Given the description of an element on the screen output the (x, y) to click on. 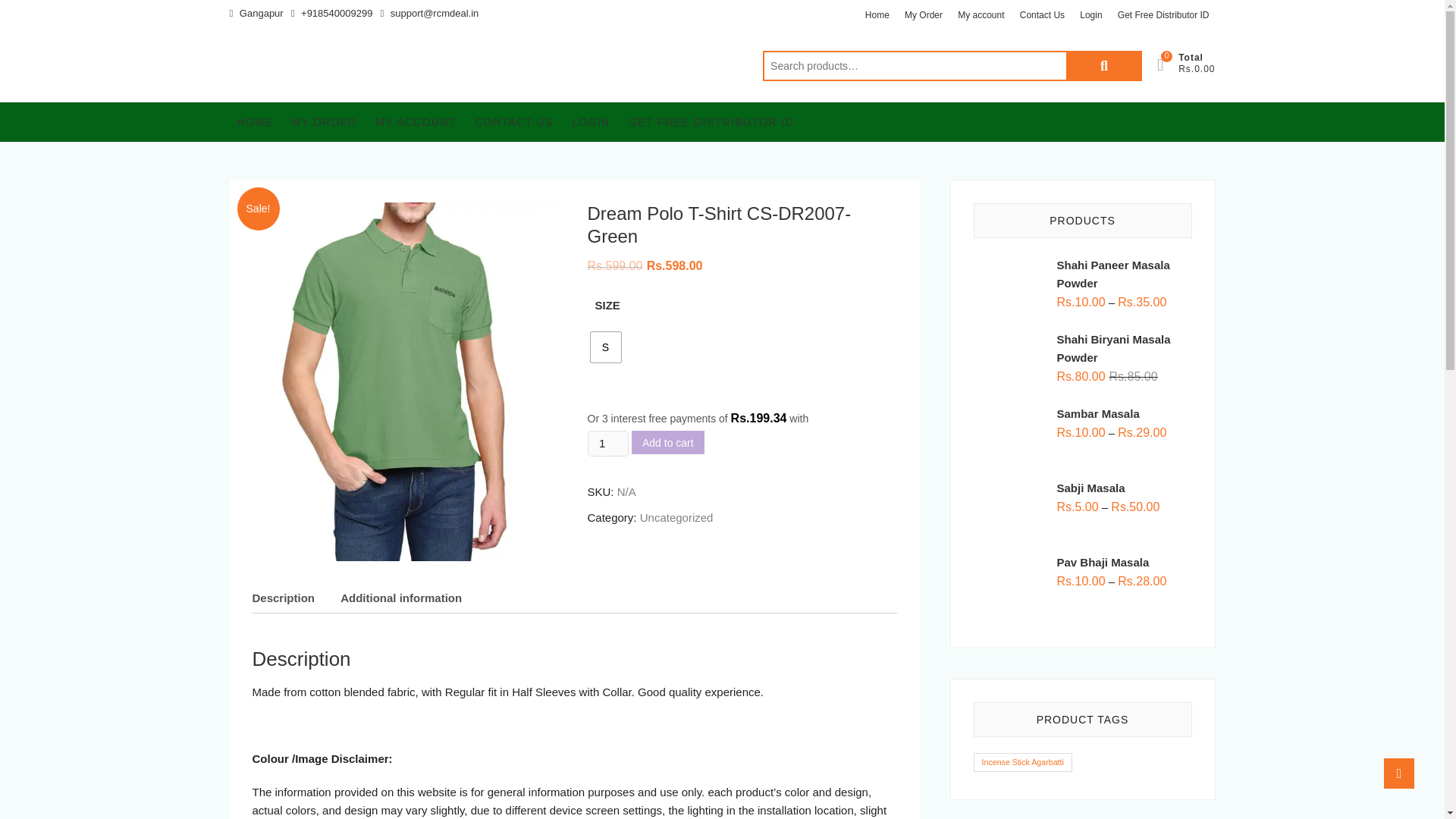
HOME (254, 121)
Uncategorized (676, 517)
MY ORDER (323, 121)
My account (981, 15)
LOGIN (590, 121)
Login (1091, 15)
Home (877, 15)
Gangapur (255, 13)
Our Address (255, 13)
